Given the description of an element on the screen output the (x, y) to click on. 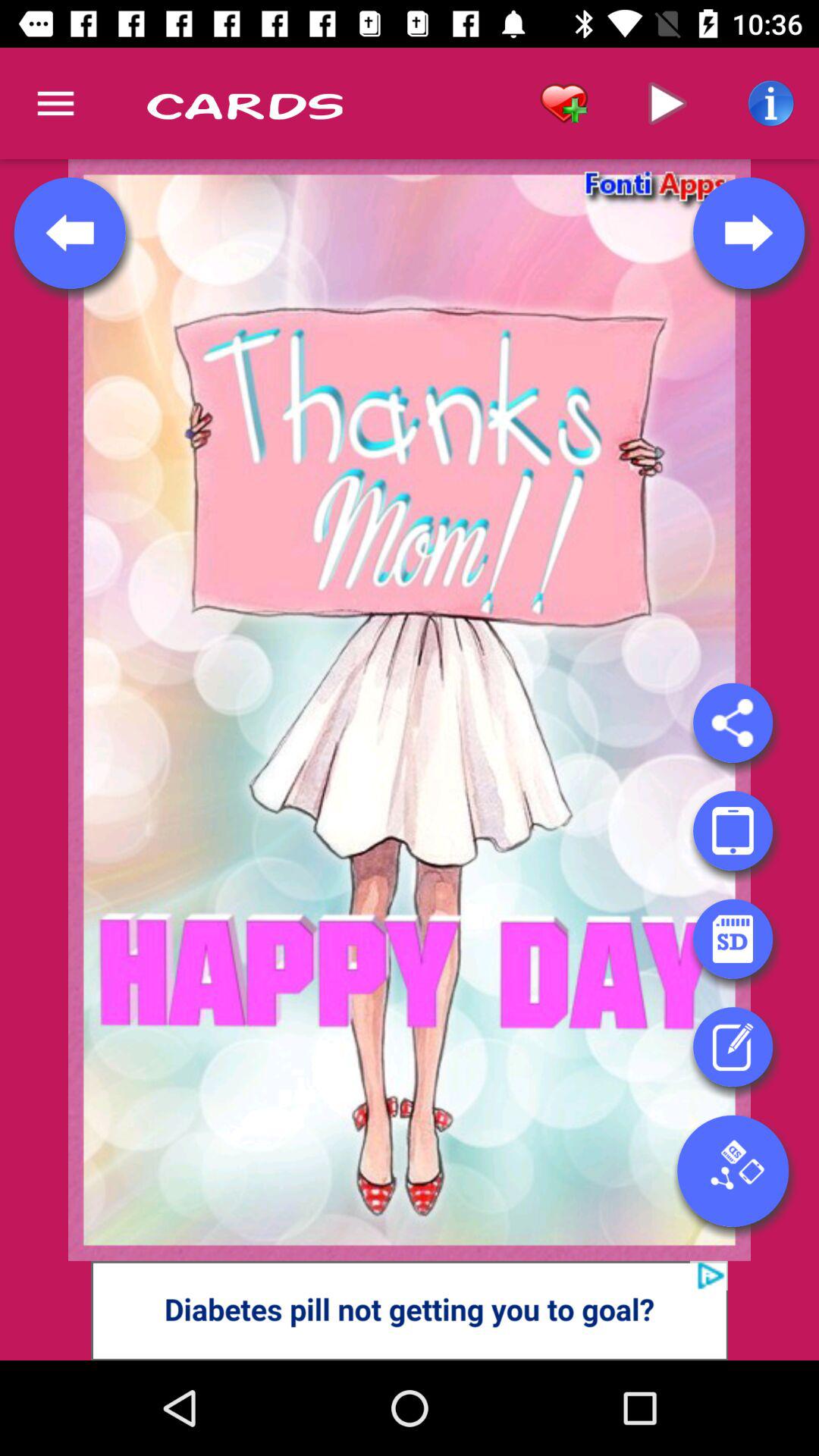
share here (733, 722)
